Given the description of an element on the screen output the (x, y) to click on. 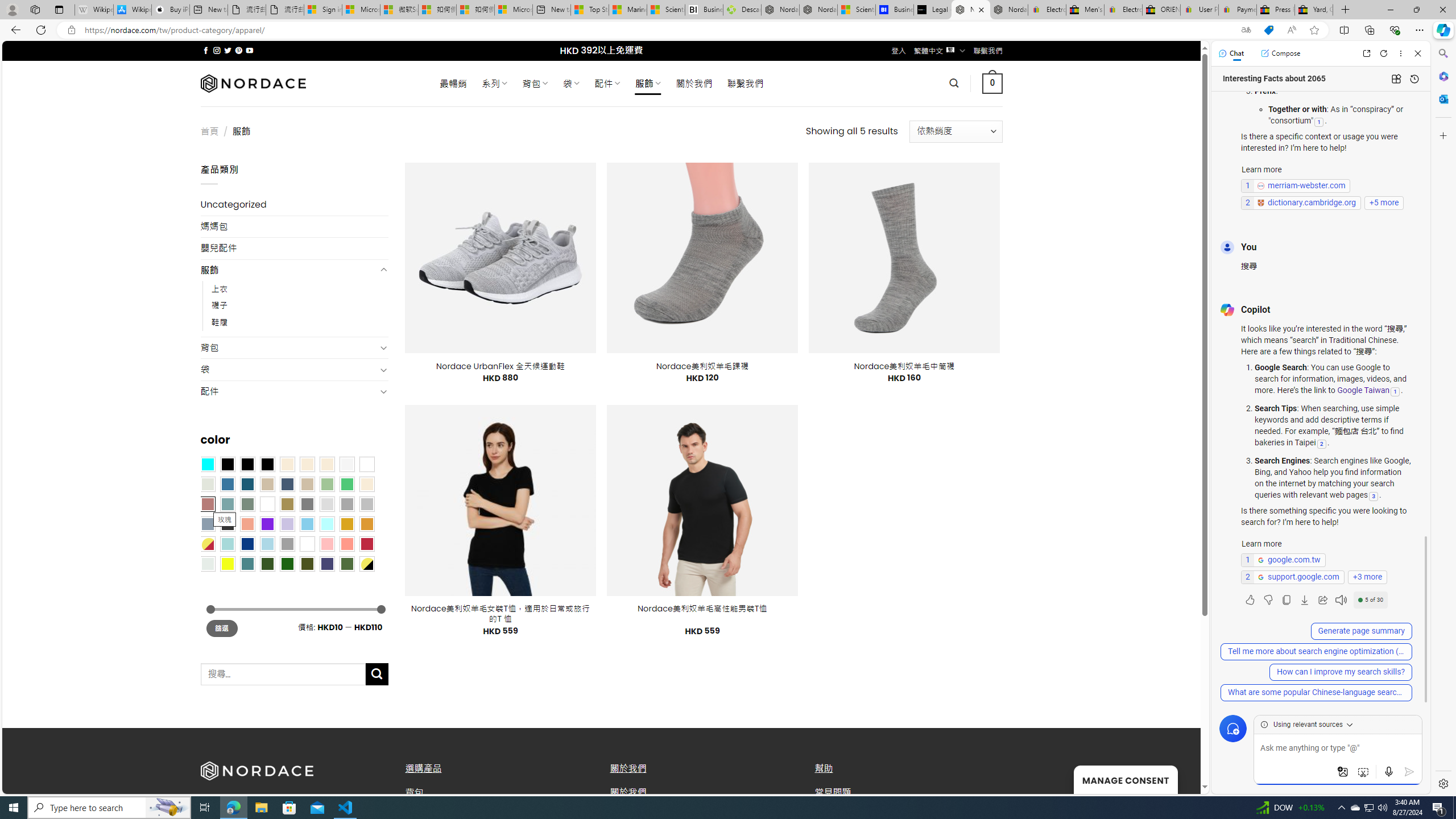
Follow on YouTube (249, 50)
